Given the description of an element on the screen output the (x, y) to click on. 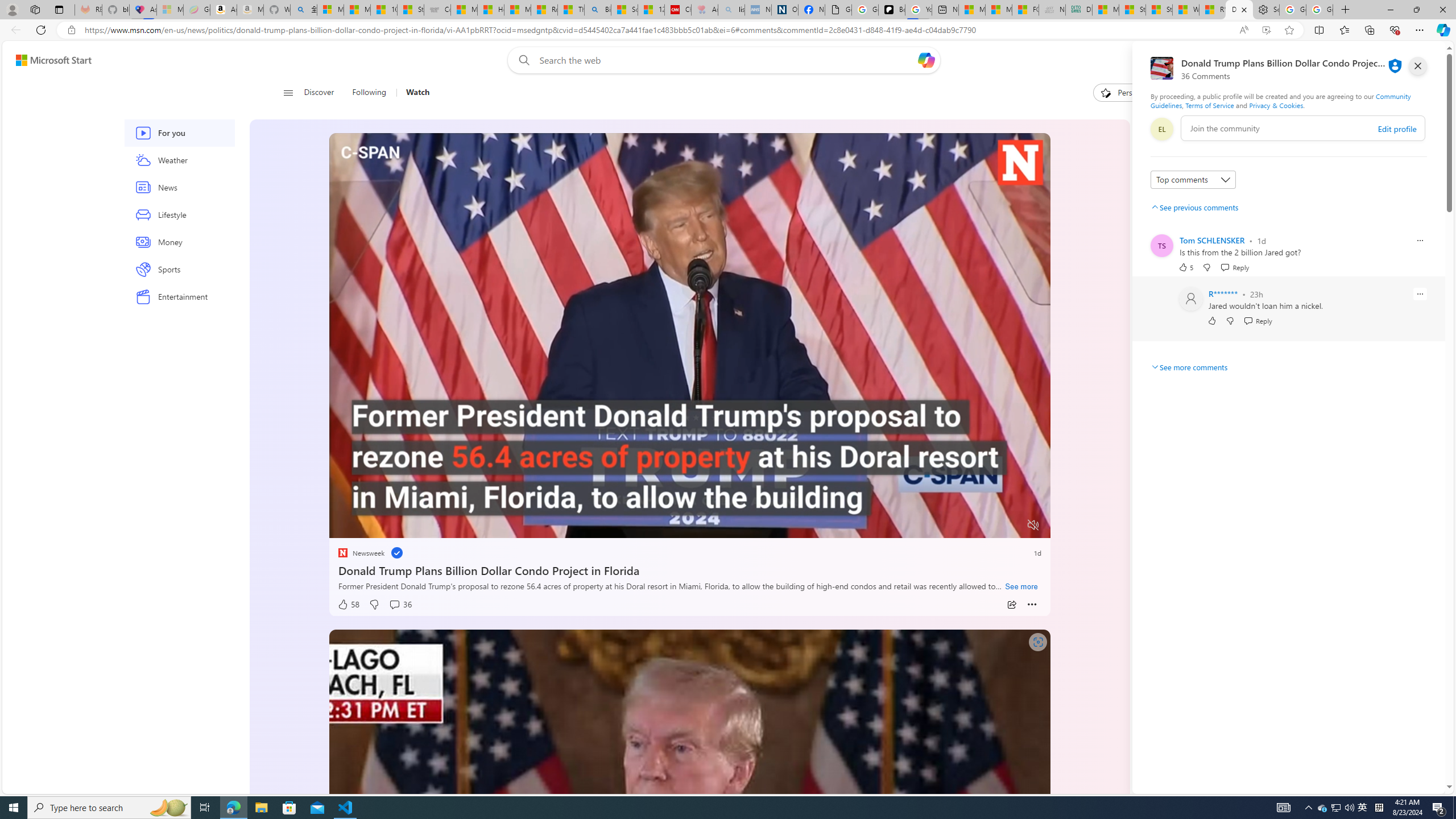
FOX News - MSN (1025, 9)
Seek Back (368, 525)
